Given the description of an element on the screen output the (x, y) to click on. 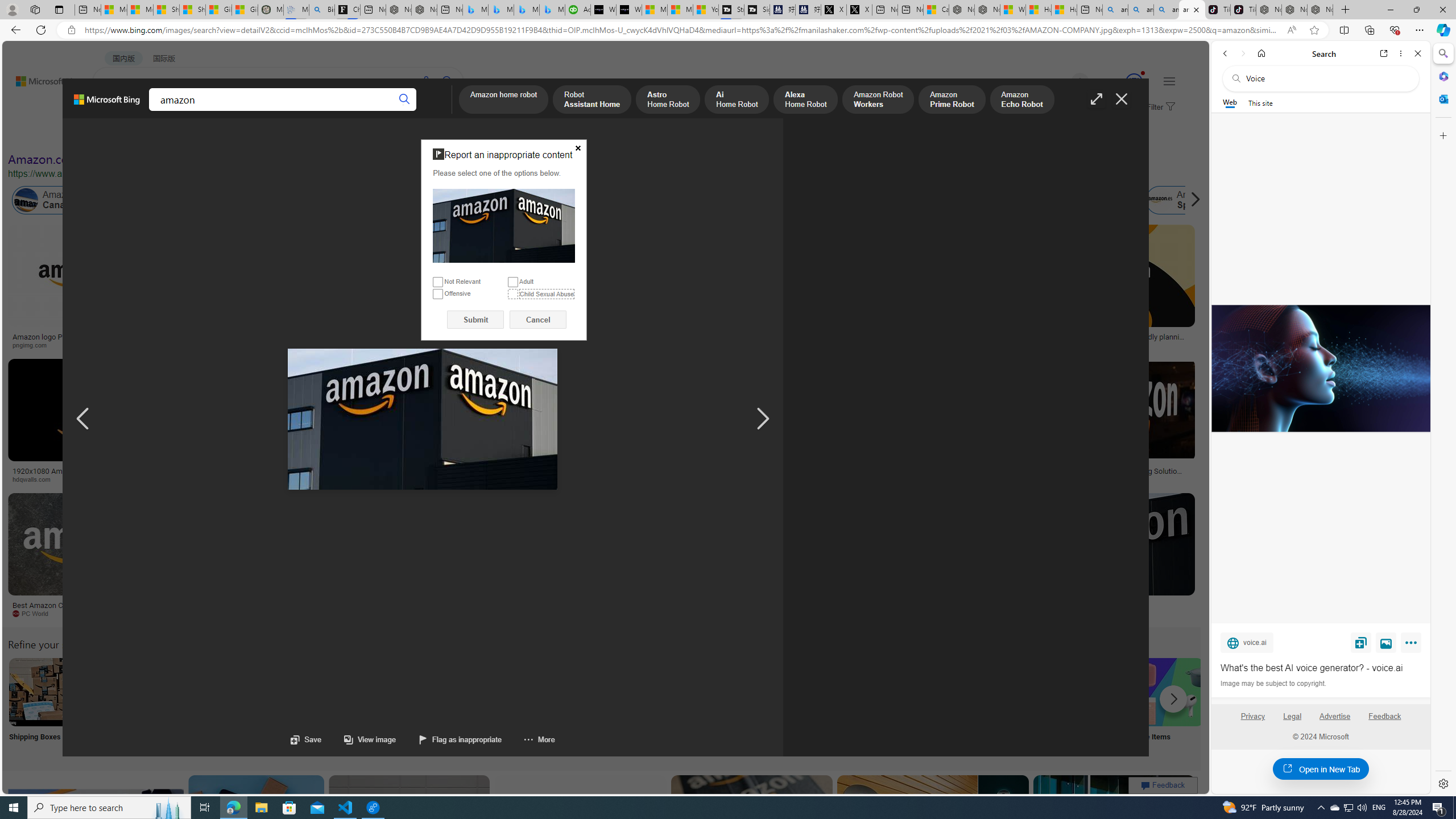
Alexa Home Robot (805, 100)
IMAGES (156, 111)
Image may be subject to copyright. (1273, 682)
MAPS (397, 111)
DICT (357, 111)
manilashaker.com (660, 612)
Report an inappropriate content (503, 226)
Amazon Sign in My Account (718, 691)
Wish List (568, 706)
